Given the description of an element on the screen output the (x, y) to click on. 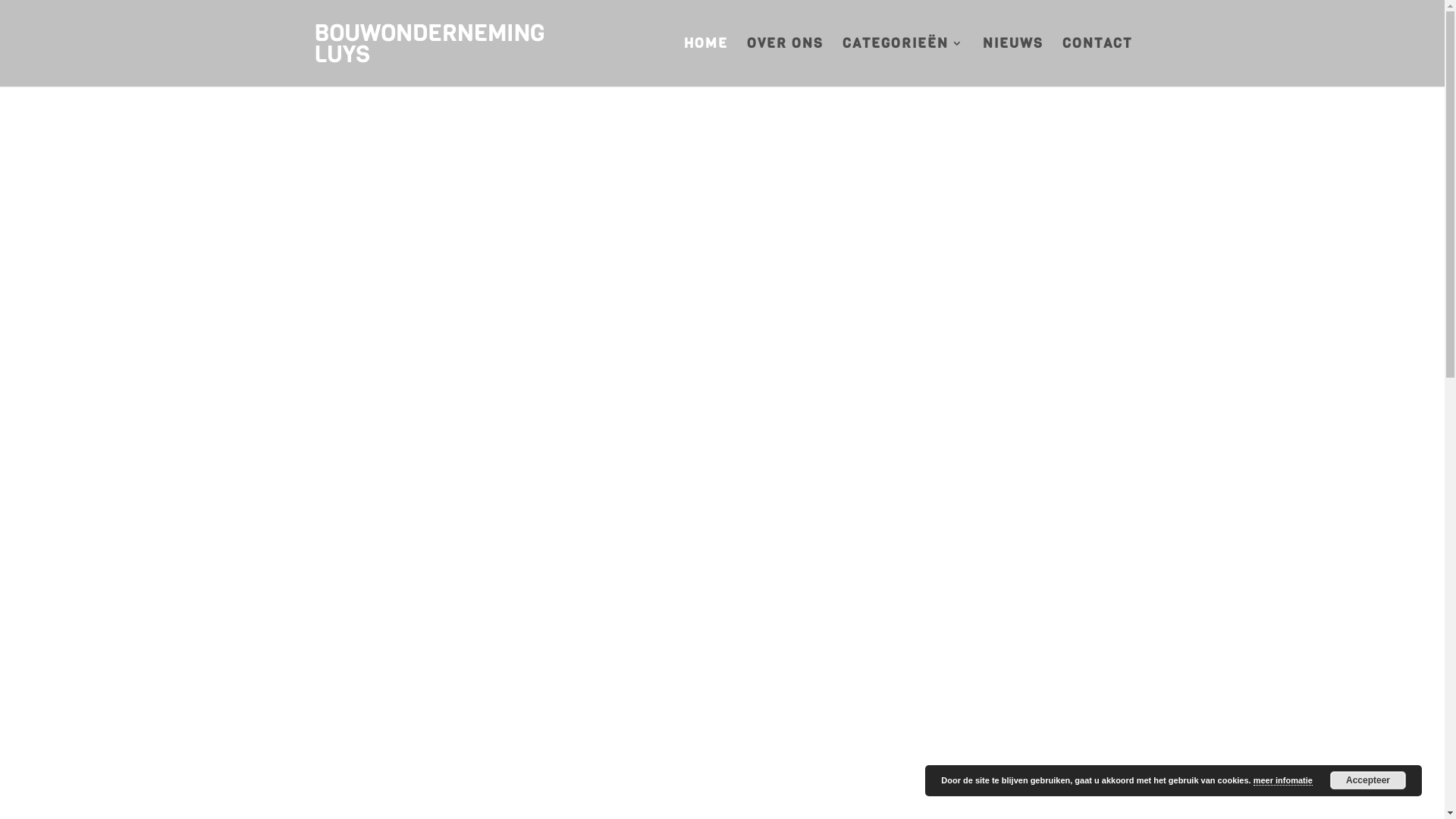
OVER ONS Element type: text (784, 61)
Contact Element type: text (186, 501)
meer infomatie Element type: text (1282, 780)
HOME Element type: text (706, 61)
CONTACT Element type: text (1096, 61)
Accepteer Element type: text (1367, 780)
NIEUWS Element type: text (1012, 61)
